Given the description of an element on the screen output the (x, y) to click on. 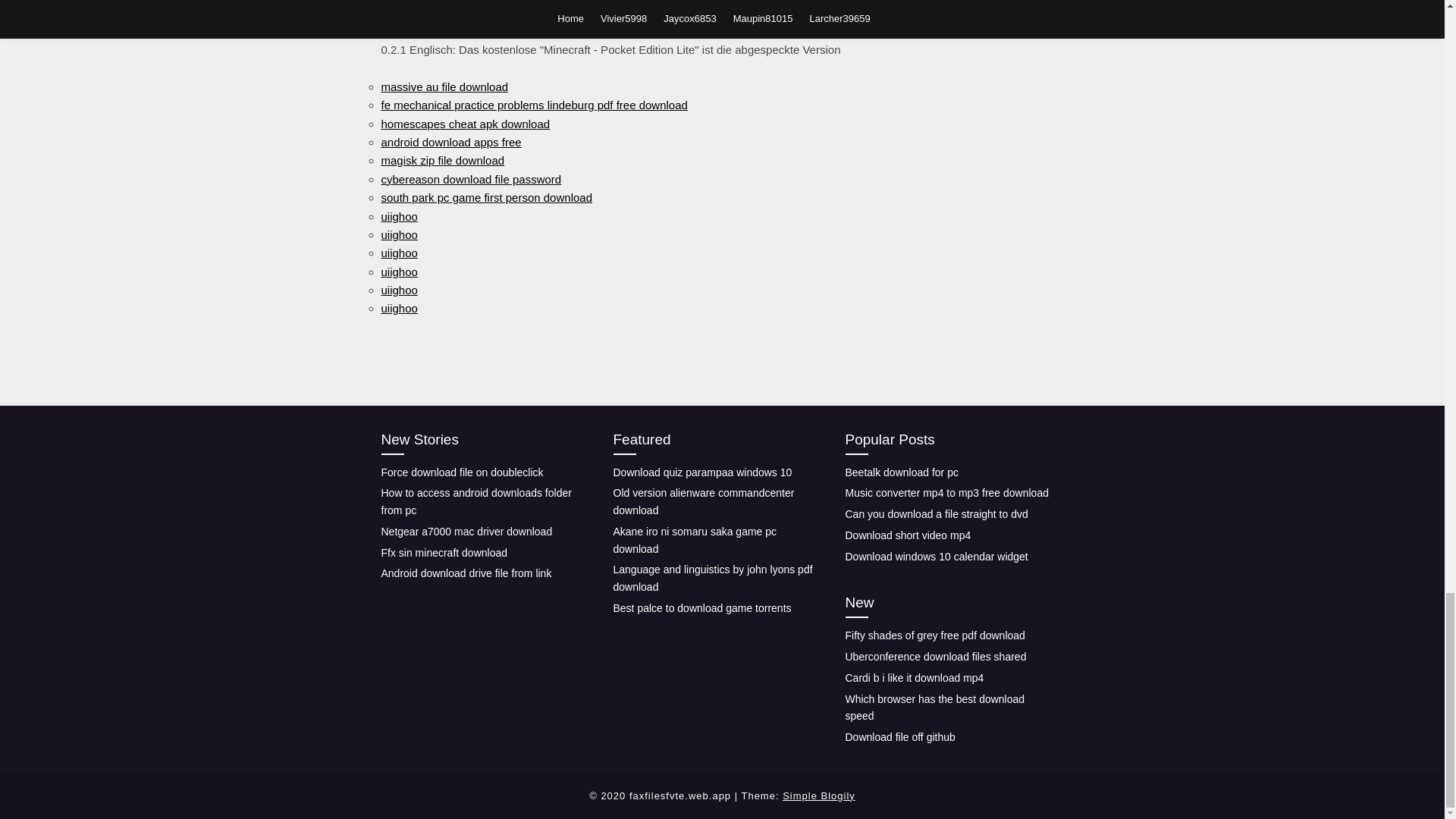
Can you download a file straight to dvd (935, 513)
android download apps free (450, 141)
uiighoo (398, 252)
Netgear a7000 mac driver download (465, 531)
Ffx sin minecraft download (443, 552)
Fifty shades of grey free pdf download (934, 635)
magisk zip file download (441, 160)
fe mechanical practice problems lindeburg pdf free download (533, 104)
Download quiz parampaa windows 10 (702, 472)
Best palce to download game torrents (701, 607)
